Given the description of an element on the screen output the (x, y) to click on. 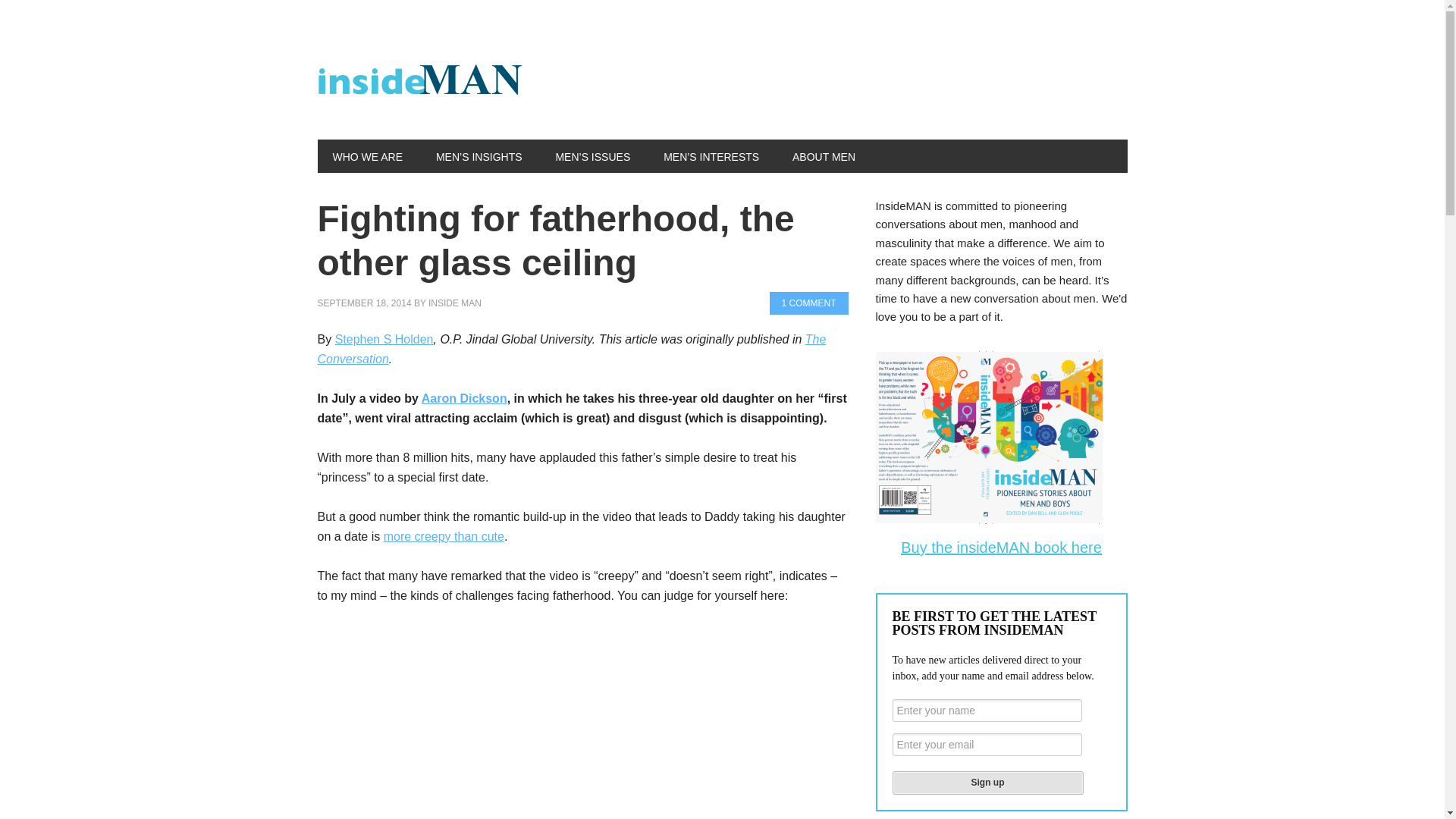
WHO WE ARE (367, 155)
INSIDE MAN (454, 303)
Stephen S Holden (383, 338)
ABOUT MEN (823, 155)
Sign up (987, 782)
The Conversation (571, 348)
INSIDEMAN (419, 81)
Aaron Dickson (464, 398)
more creepy than cute (443, 535)
1 COMMENT (807, 302)
